Given the description of an element on the screen output the (x, y) to click on. 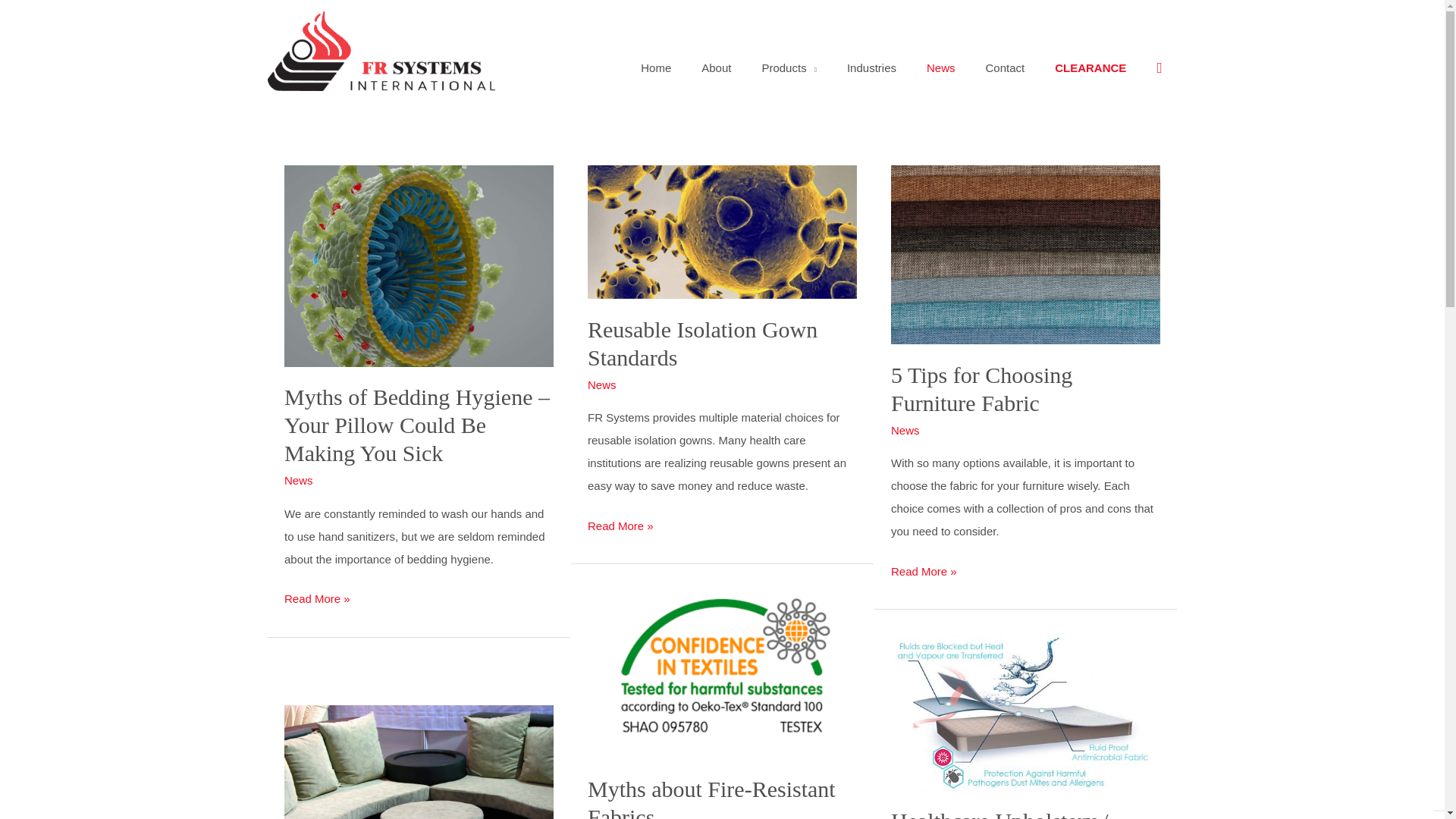
Industries (871, 67)
Home (655, 67)
News (298, 480)
Products (788, 67)
News (941, 67)
Contact (1006, 67)
CLEARANCE (1090, 67)
About (715, 67)
